Given the description of an element on the screen output the (x, y) to click on. 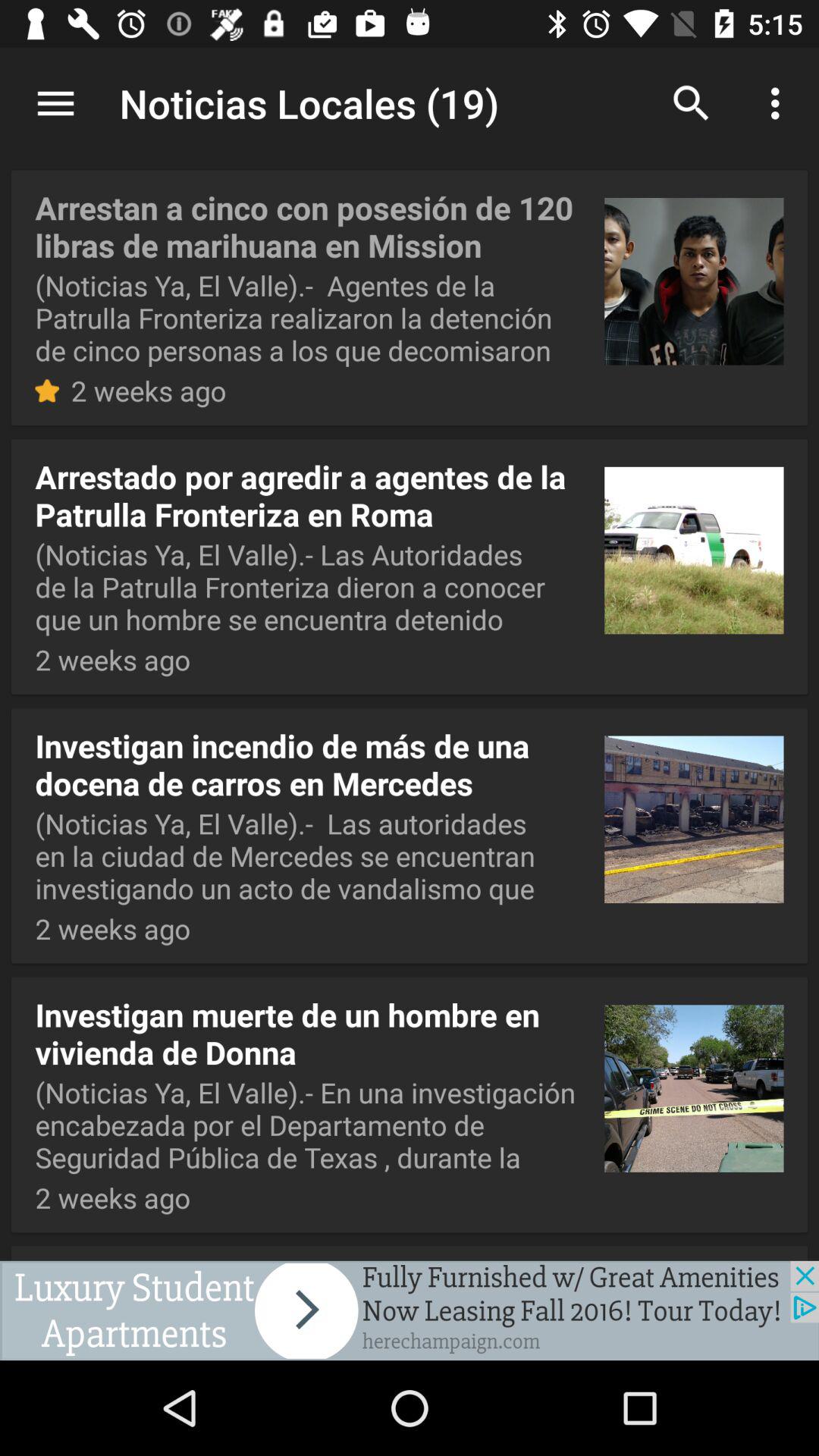
advertisement page (409, 1310)
